Given the description of an element on the screen output the (x, y) to click on. 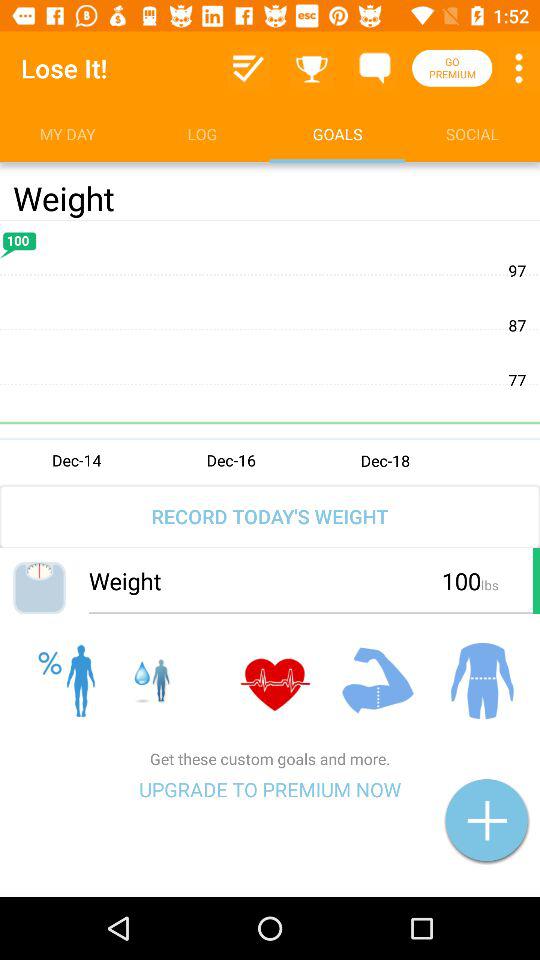
messages (374, 67)
